Given the description of an element on the screen output the (x, y) to click on. 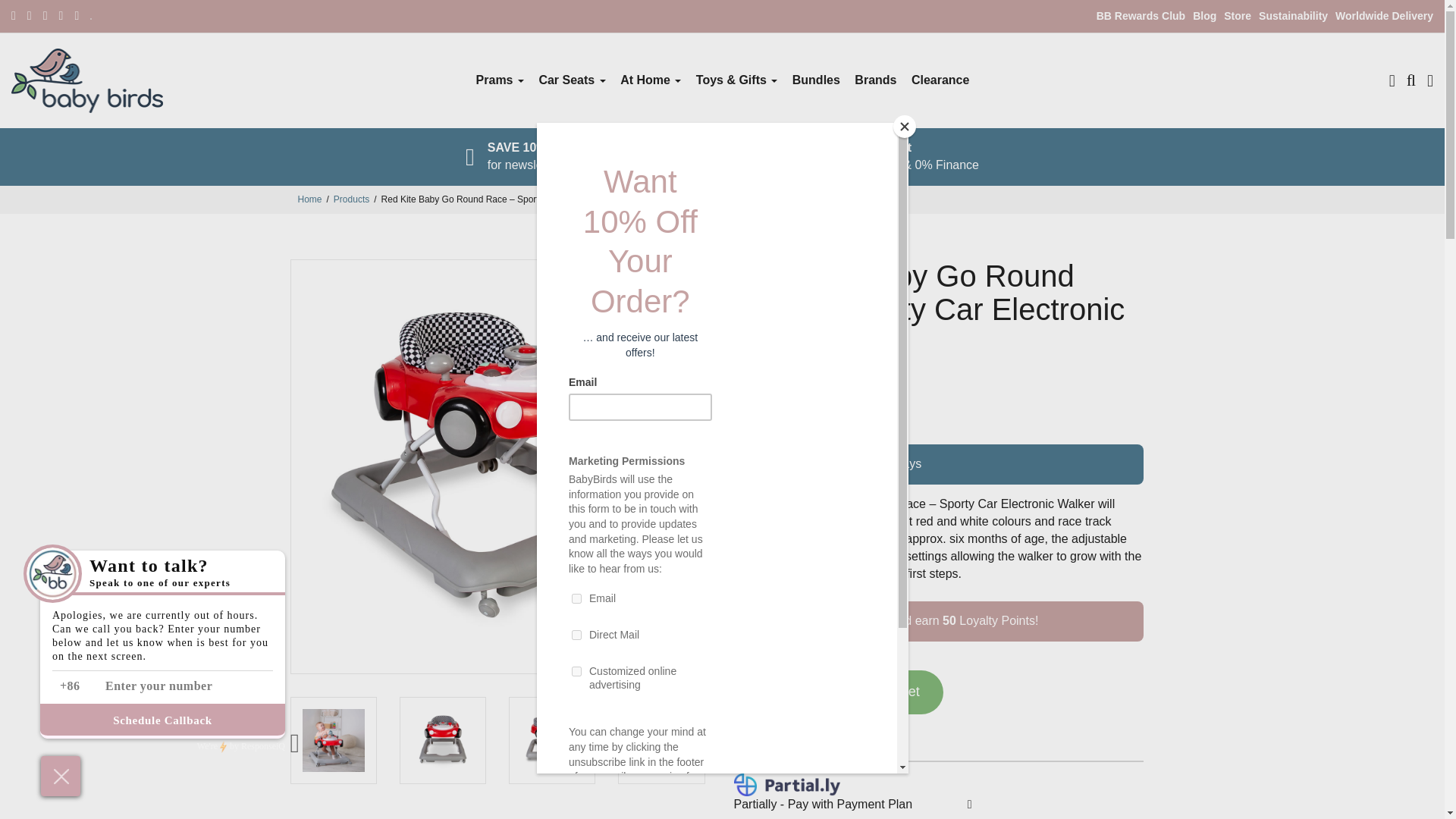
1 (761, 691)
